Given the description of an element on the screen output the (x, y) to click on. 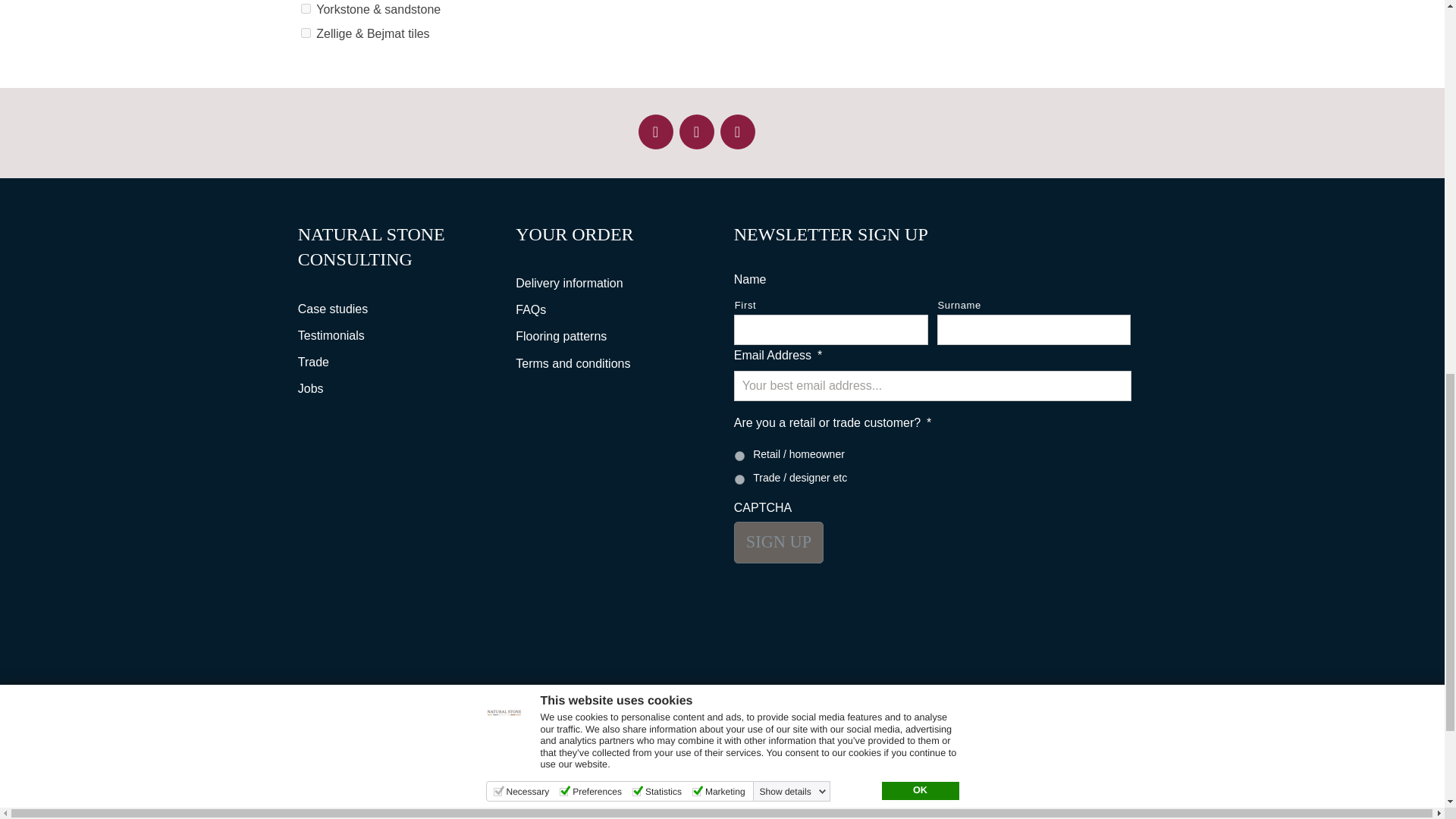
yorkstone-sandstone (306, 8)
